Given the description of an element on the screen output the (x, y) to click on. 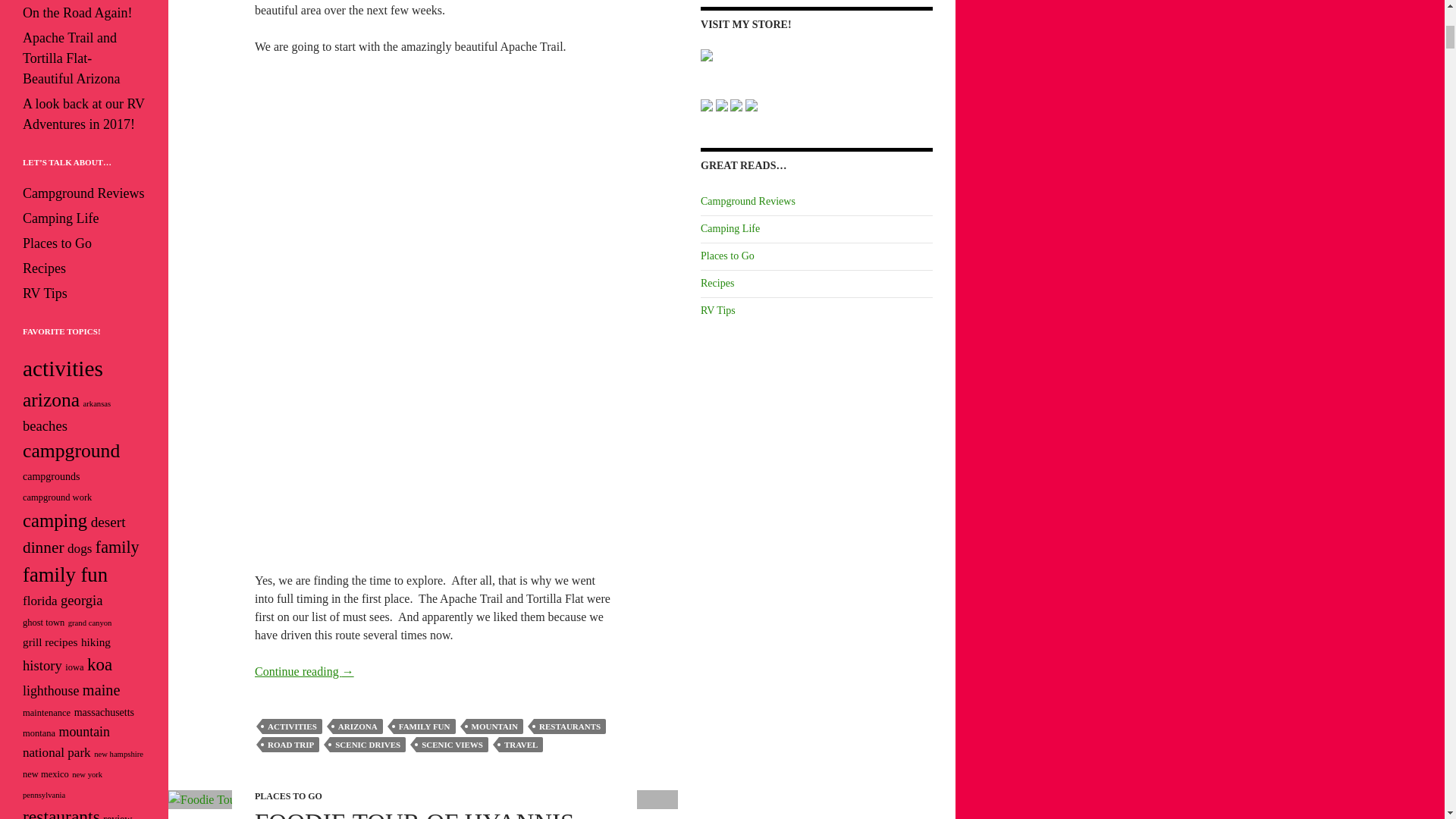
SCENIC VIEWS (451, 744)
ARIZONA (357, 726)
TRAVEL (521, 744)
PLACES TO GO (287, 796)
ROAD TRIP (290, 744)
RESTAURANTS (569, 726)
SCENIC DRIVES (368, 744)
ACTIVITIES (291, 726)
MOUNTAIN (493, 726)
FOODIE TOUR OF HYANNIS (413, 814)
